Given the description of an element on the screen output the (x, y) to click on. 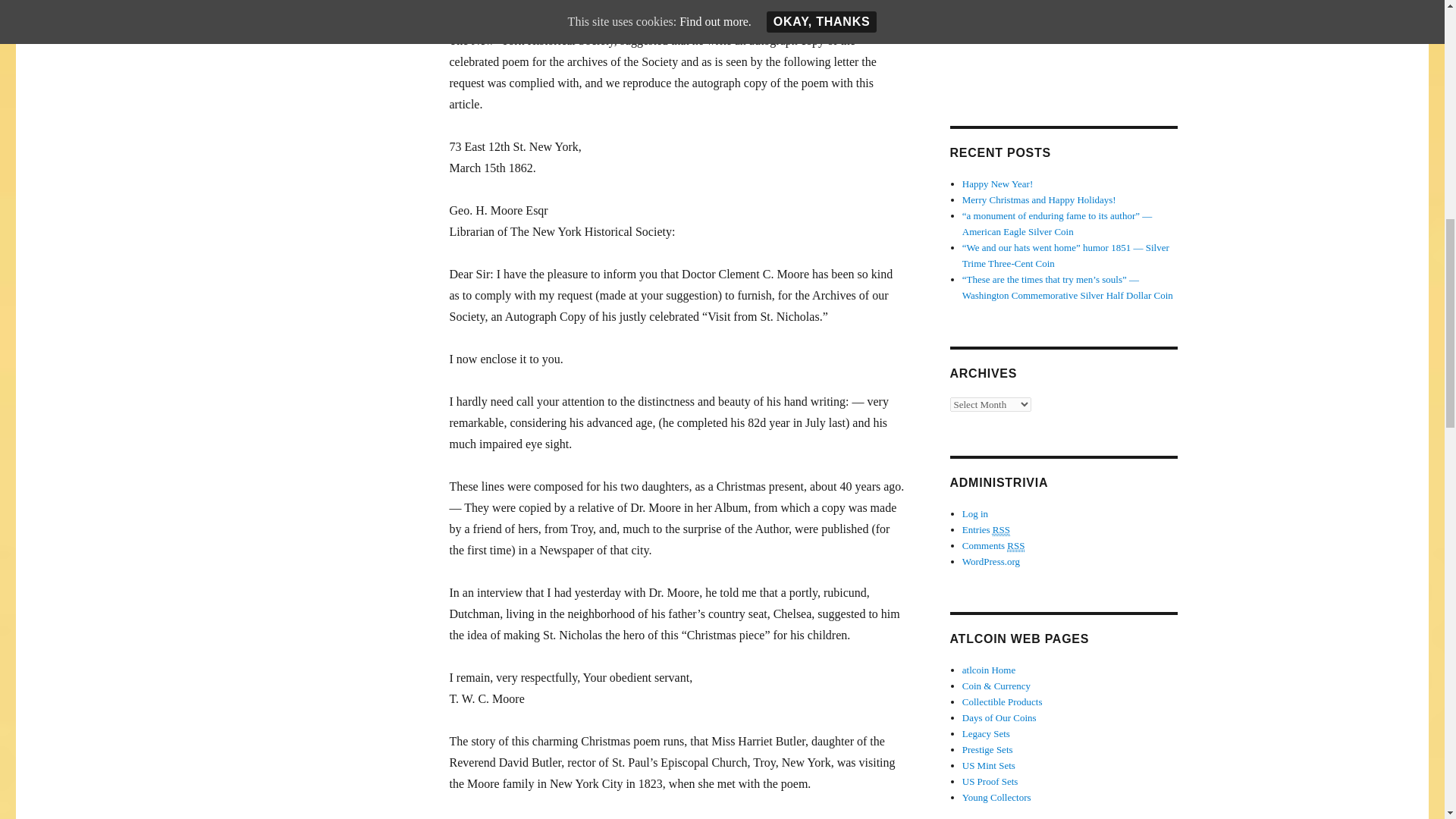
US Mint Coin and Currency Sets (996, 685)
Happy New Year! (997, 183)
Log in (975, 513)
Young Collectors Edition Coin Sets (996, 797)
Merry Christmas and Happy Holidays! (1039, 199)
Prestige Proof Sets from US Mint (987, 749)
American Legacy Proof Coins Sets (986, 733)
Really Simple Syndication (1016, 545)
Annual US Mint Sets (988, 765)
Greater Atlanta Coin Shows (988, 669)
Our new book with a few sample pages (999, 717)
Annual US Proof Sets (989, 781)
Coins, Sports Collectibles, Collecting Books and e-Books (1002, 701)
Really Simple Syndication (1001, 530)
